Given the description of an element on the screen output the (x, y) to click on. 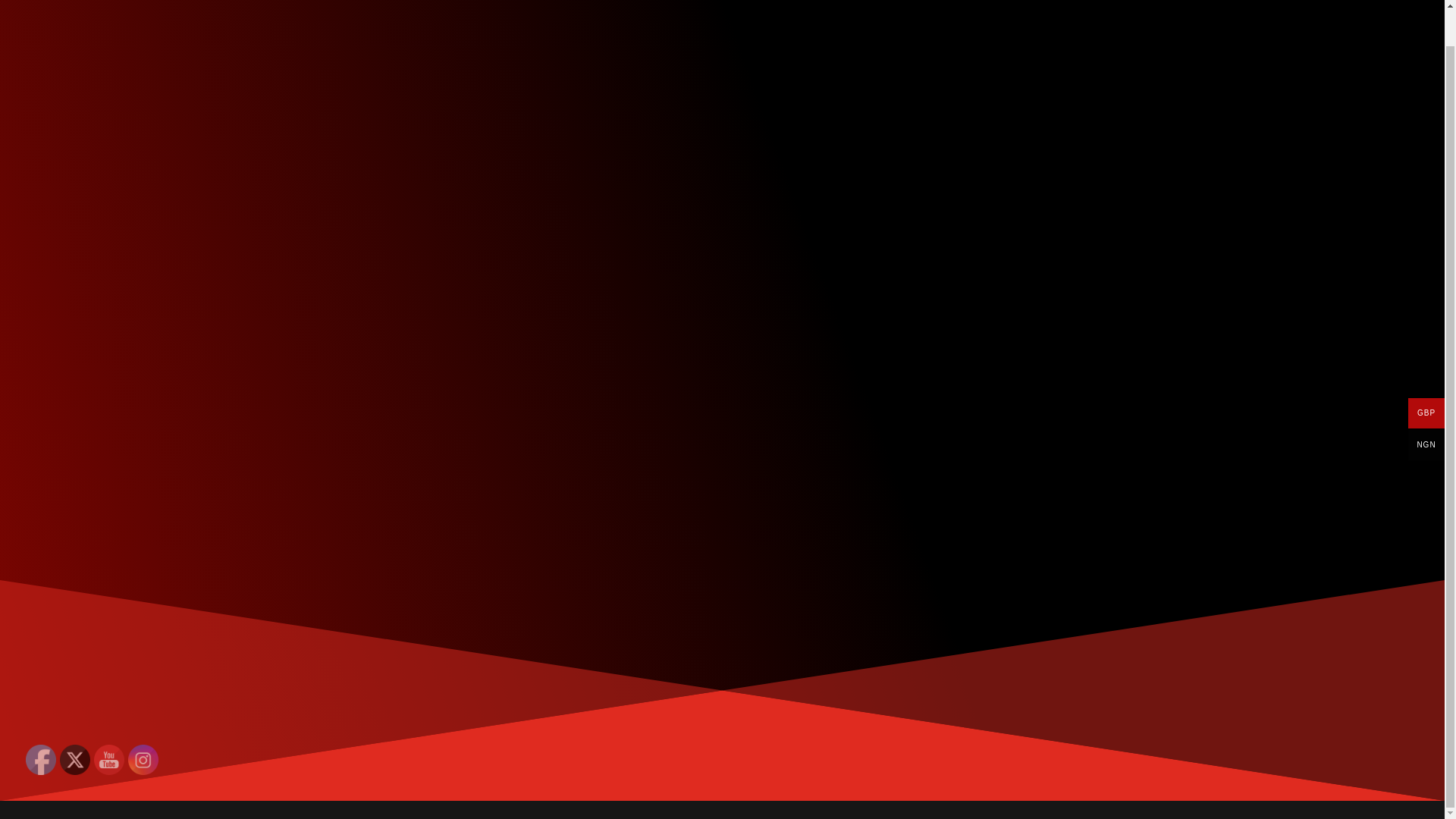
Instagram (143, 759)
Facebook (41, 759)
YouTube (108, 759)
Twitter (74, 759)
